Given the description of an element on the screen output the (x, y) to click on. 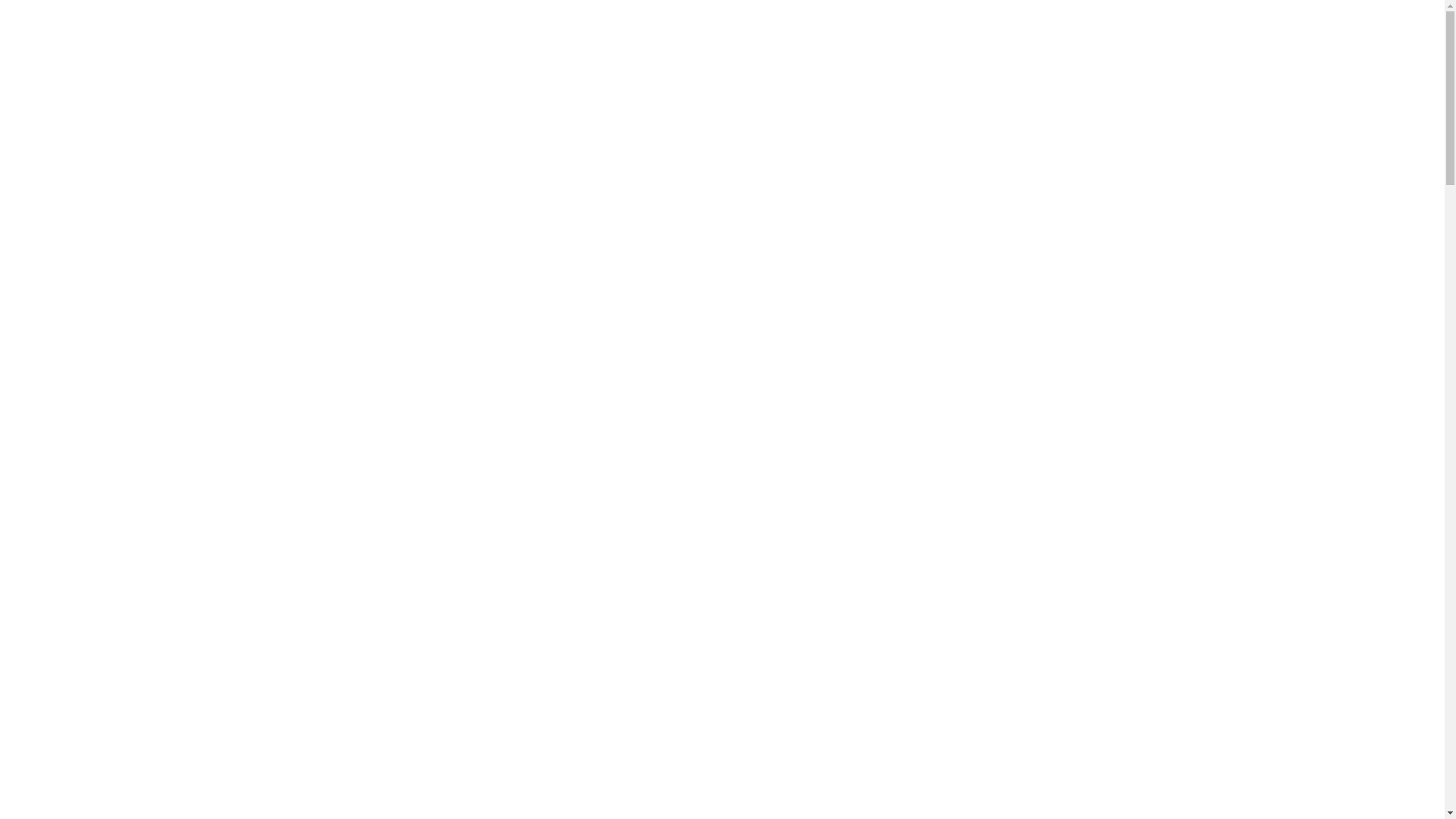
formulaire de contact Element type: text (217, 424)
ACCUEIL Element type: text (31, 59)
CONTACT Element type: text (286, 59)
HONORAIRES Element type: text (207, 59)
